Given the description of an element on the screen output the (x, y) to click on. 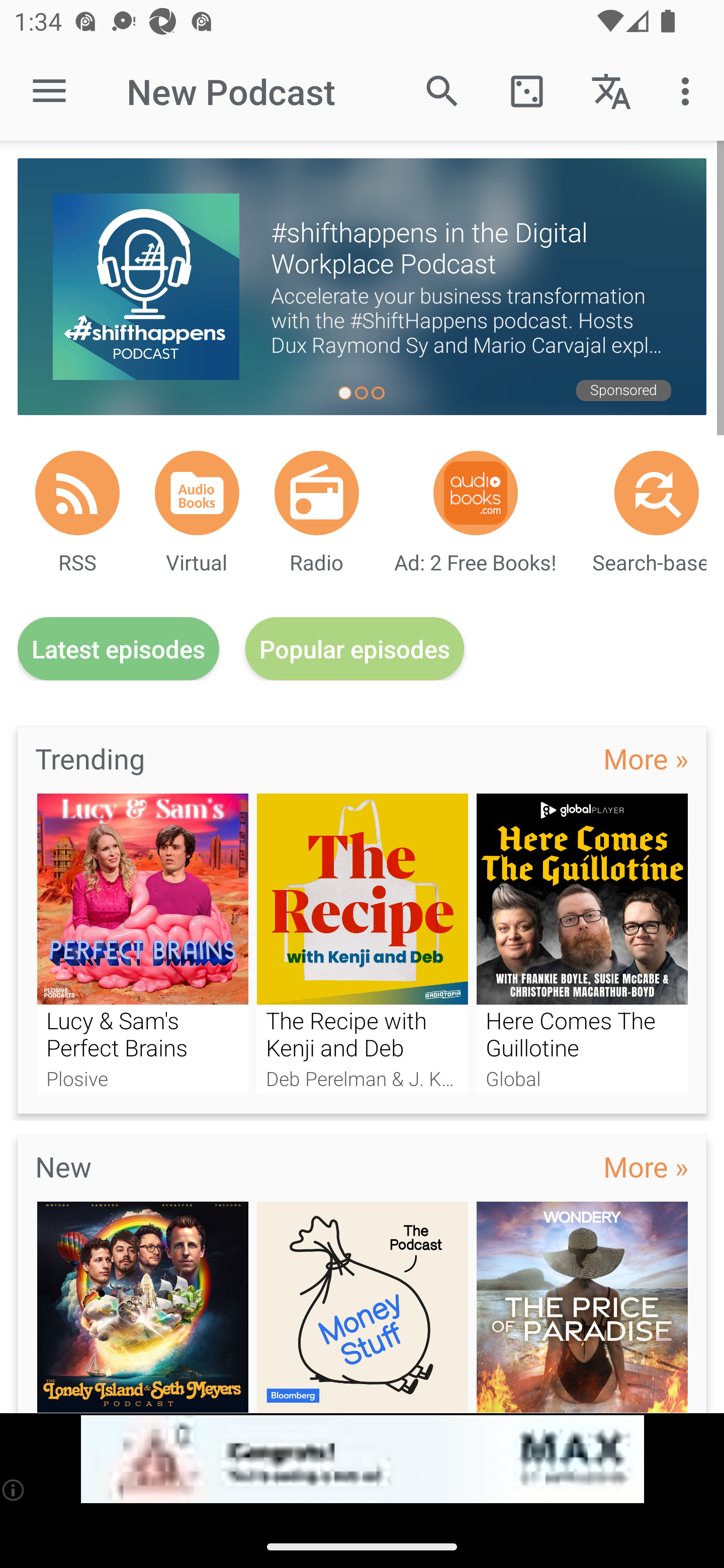
Open navigation sidebar (49, 91)
Search (442, 90)
Random pick (526, 90)
Podcast languages (611, 90)
More options (688, 90)
RSS (77, 492)
Virtual (196, 492)
Radio (316, 492)
Search-based (656, 492)
Latest episodes (118, 648)
Popular episodes (354, 648)
More » (645, 757)
Lucy & Sam's Perfect Brains Plosive (142, 942)
Here Comes The Guillotine Global (581, 942)
More » (645, 1166)
The Lonely Island and Seth Meyers Podcast (142, 1306)
Money Stuff: The Podcast (362, 1306)
The Price of Paradise (581, 1306)
app-monetization (362, 1459)
(i) (14, 1489)
